Given the description of an element on the screen output the (x, y) to click on. 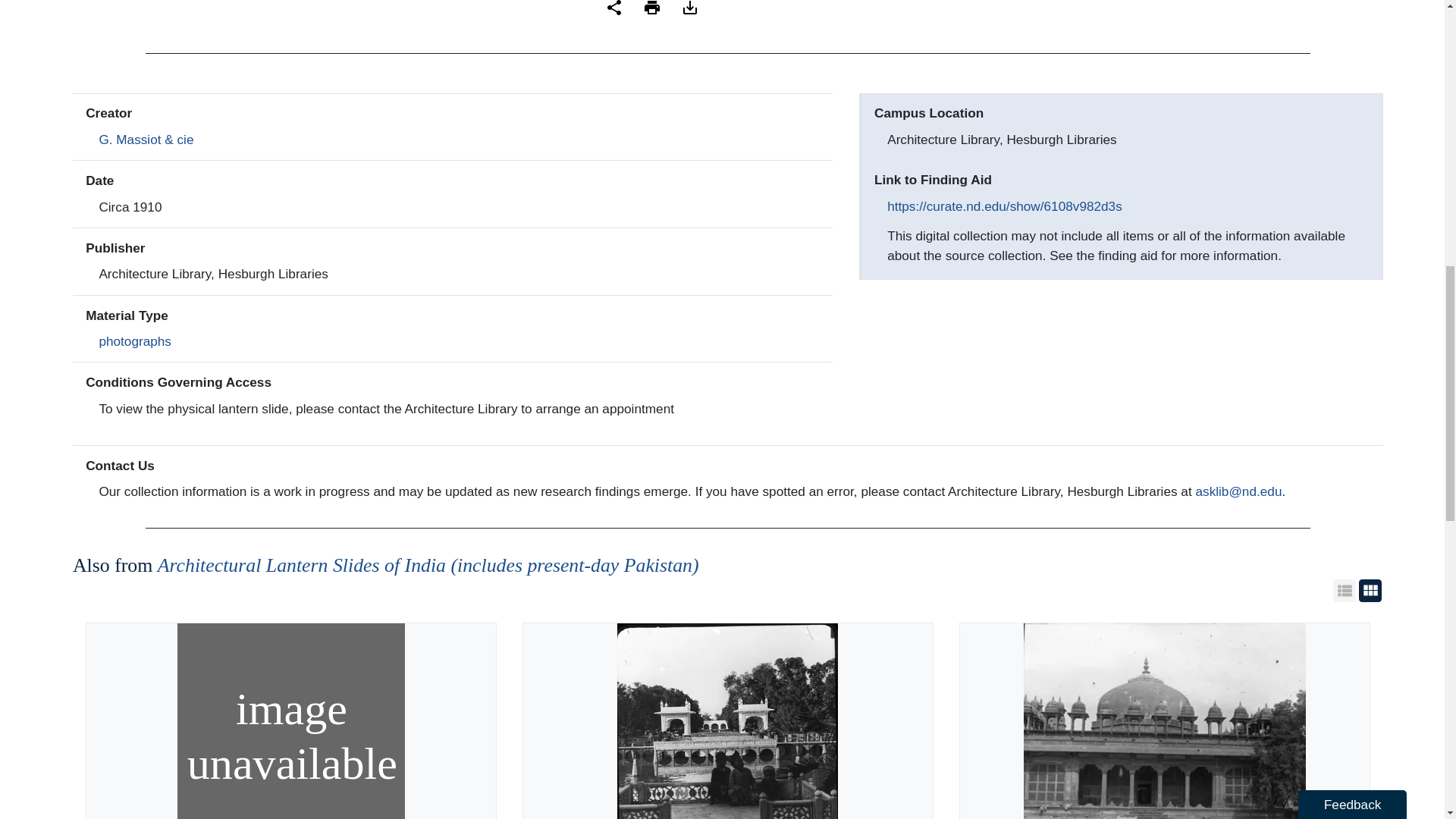
Download (689, 8)
Share (614, 8)
photographs (135, 340)
Print (652, 8)
